Given the description of an element on the screen output the (x, y) to click on. 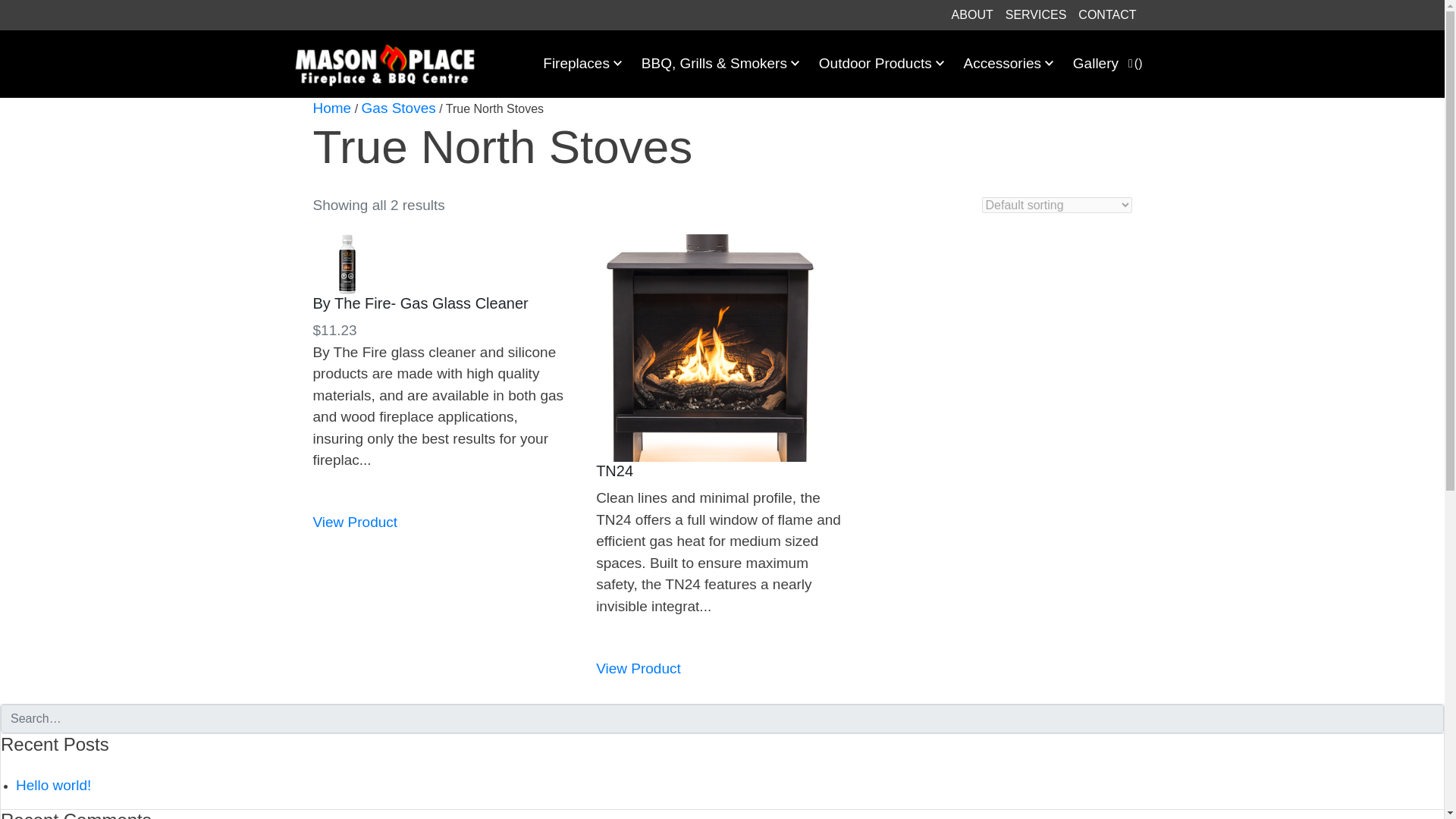
Outdoor Products (881, 63)
SERVICES (1035, 15)
CONTACT (1106, 15)
ABOUT (971, 15)
Fireplaces (581, 63)
